Given the description of an element on the screen output the (x, y) to click on. 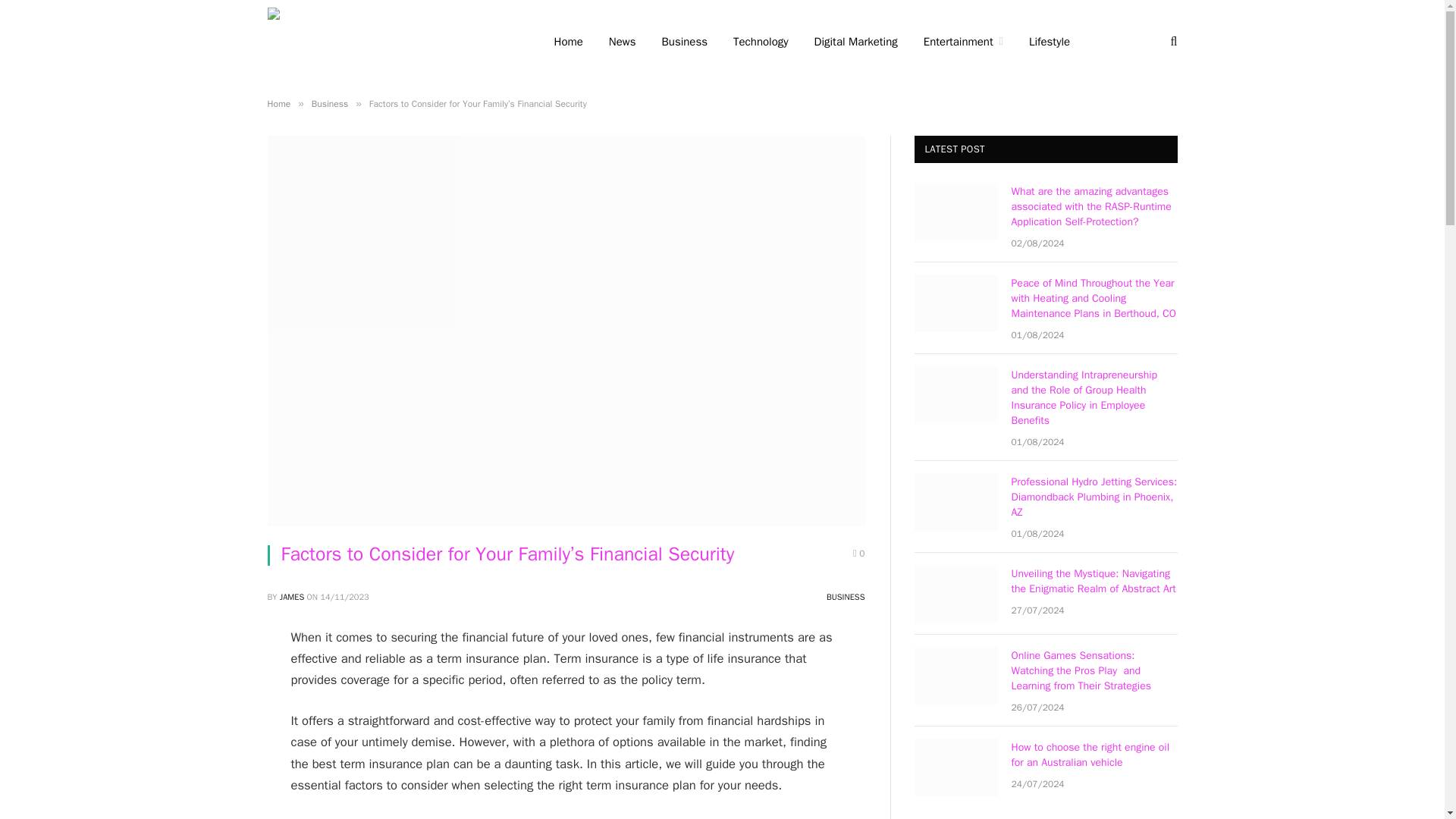
Posts by James (291, 596)
0 (858, 553)
Business (329, 103)
Search (1172, 41)
Home (277, 103)
Technology (761, 41)
Digital Marketing (856, 41)
Entertainment (963, 41)
News (622, 41)
Hubby Digital (389, 41)
Home (568, 41)
Lifestyle (1049, 41)
Business (684, 41)
